Given the description of an element on the screen output the (x, y) to click on. 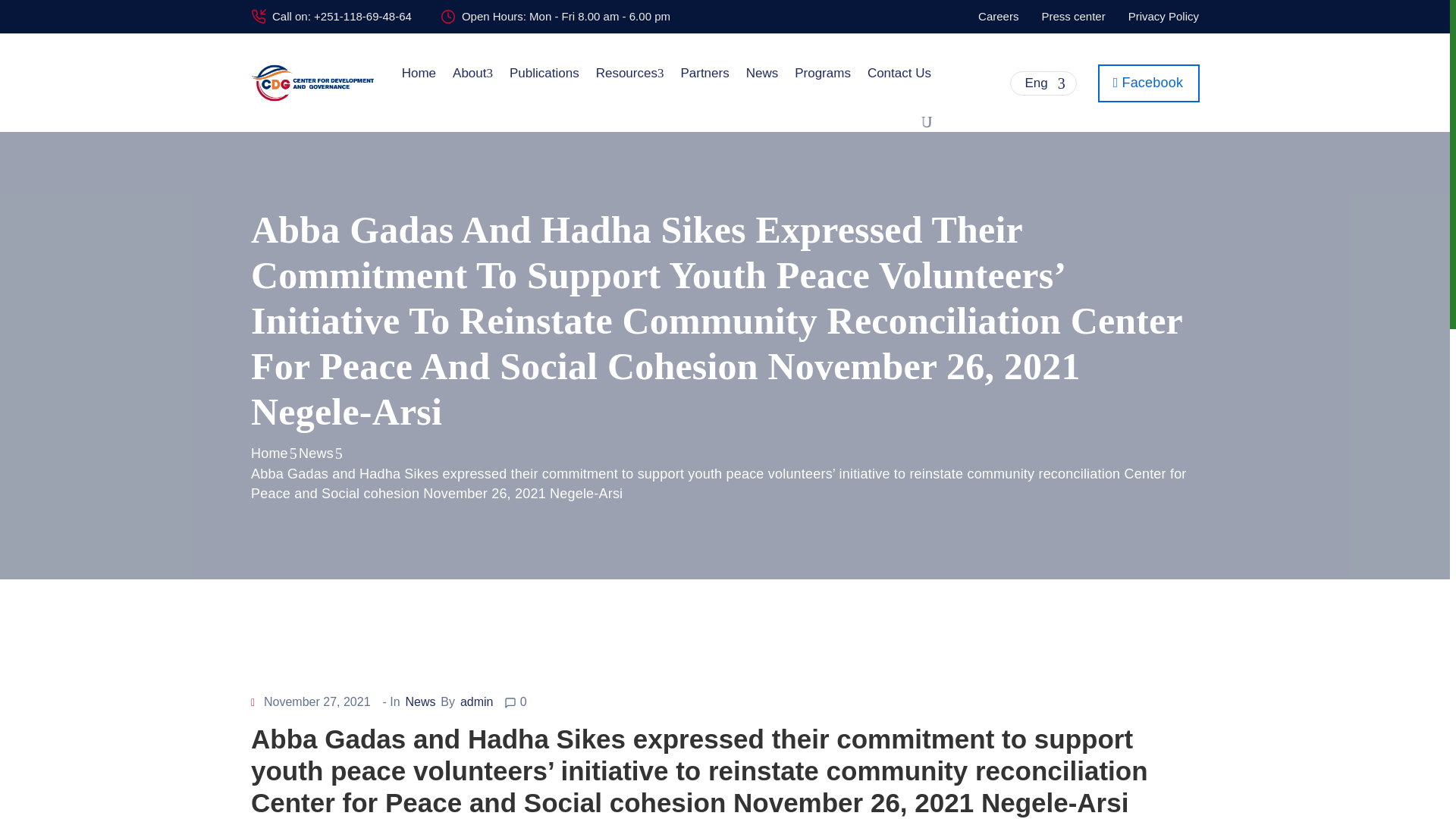
Search (1061, 409)
Home (269, 453)
Publications (544, 73)
Contact Us (899, 73)
Press center (1073, 16)
Privacy Policy (1163, 16)
admin (476, 701)
Facebook (1148, 82)
Programs (822, 73)
News (419, 701)
News (315, 453)
Open Hours: Mon - Fri 8.00 am - 6.00 pm (565, 15)
Resources (630, 73)
Careers (997, 16)
